Given the description of an element on the screen output the (x, y) to click on. 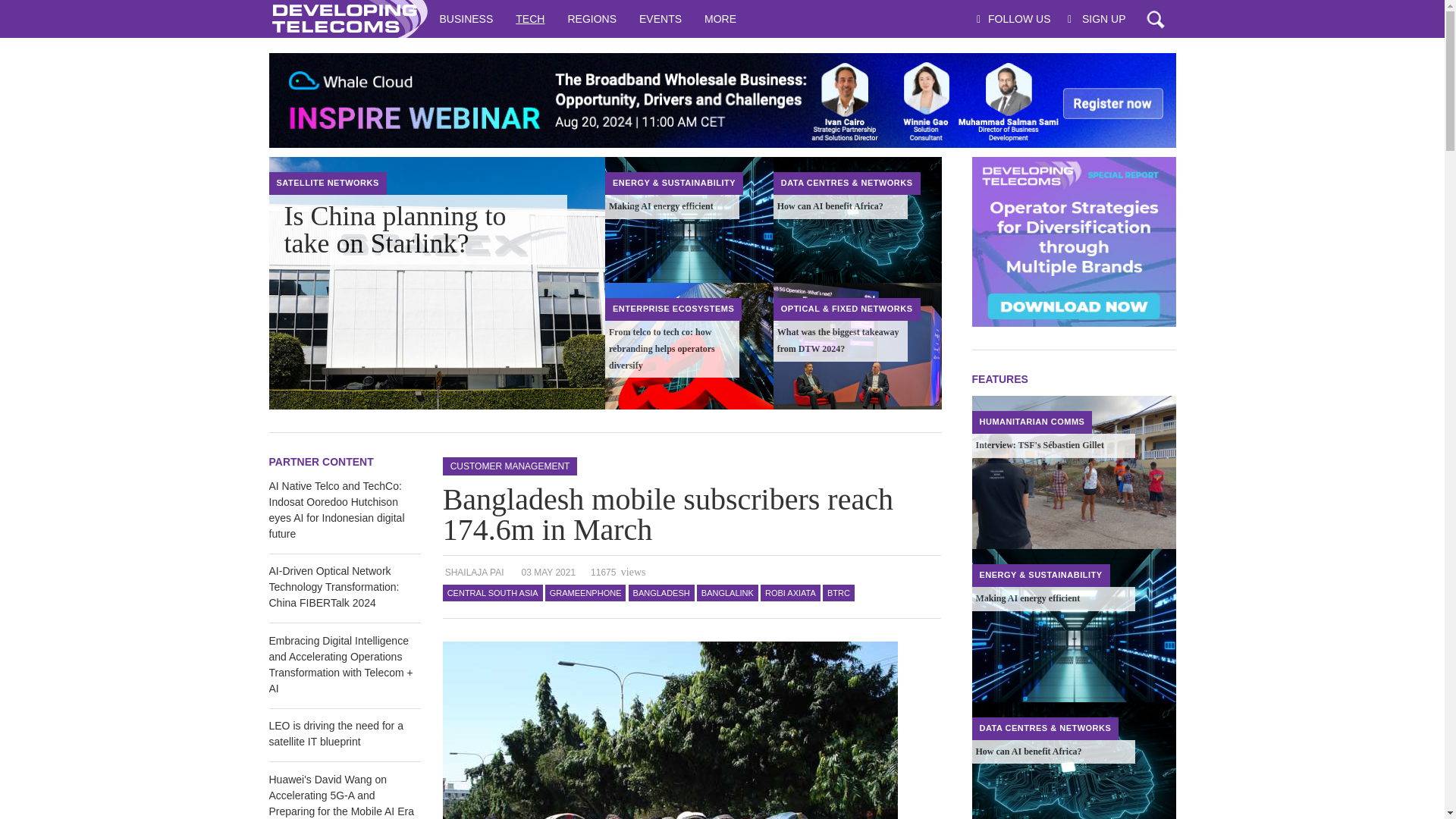
REGIONS (591, 18)
Satellite Networks (327, 182)
TECH (529, 18)
Developing Telecoms (347, 18)
Click to follow link (720, 100)
BUSINESS (465, 18)
